Given the description of an element on the screen output the (x, y) to click on. 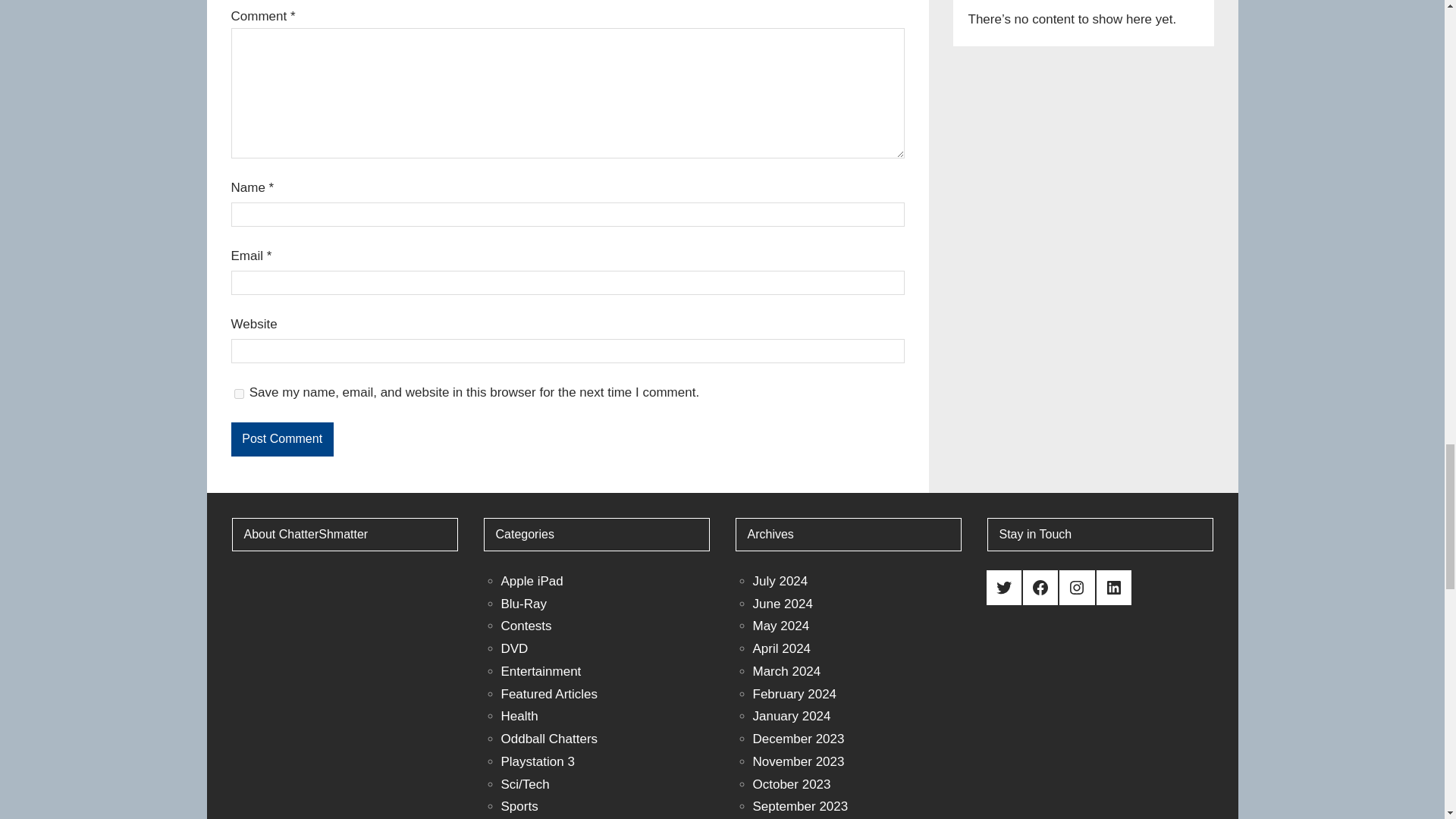
Post Comment (281, 439)
Post Comment (281, 439)
